Given the description of an element on the screen output the (x, y) to click on. 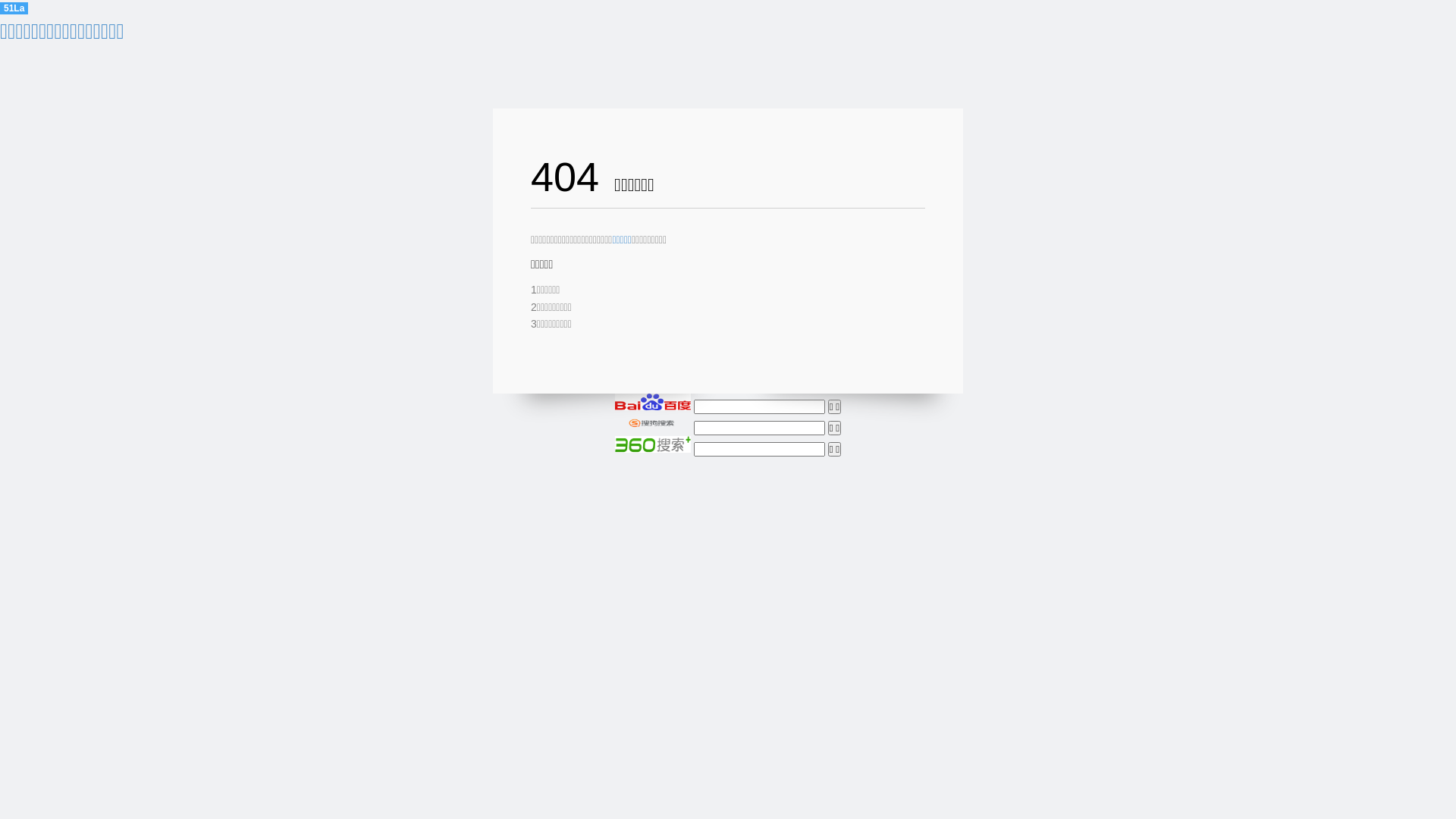
51La Element type: text (14, 7)
